Given the description of an element on the screen output the (x, y) to click on. 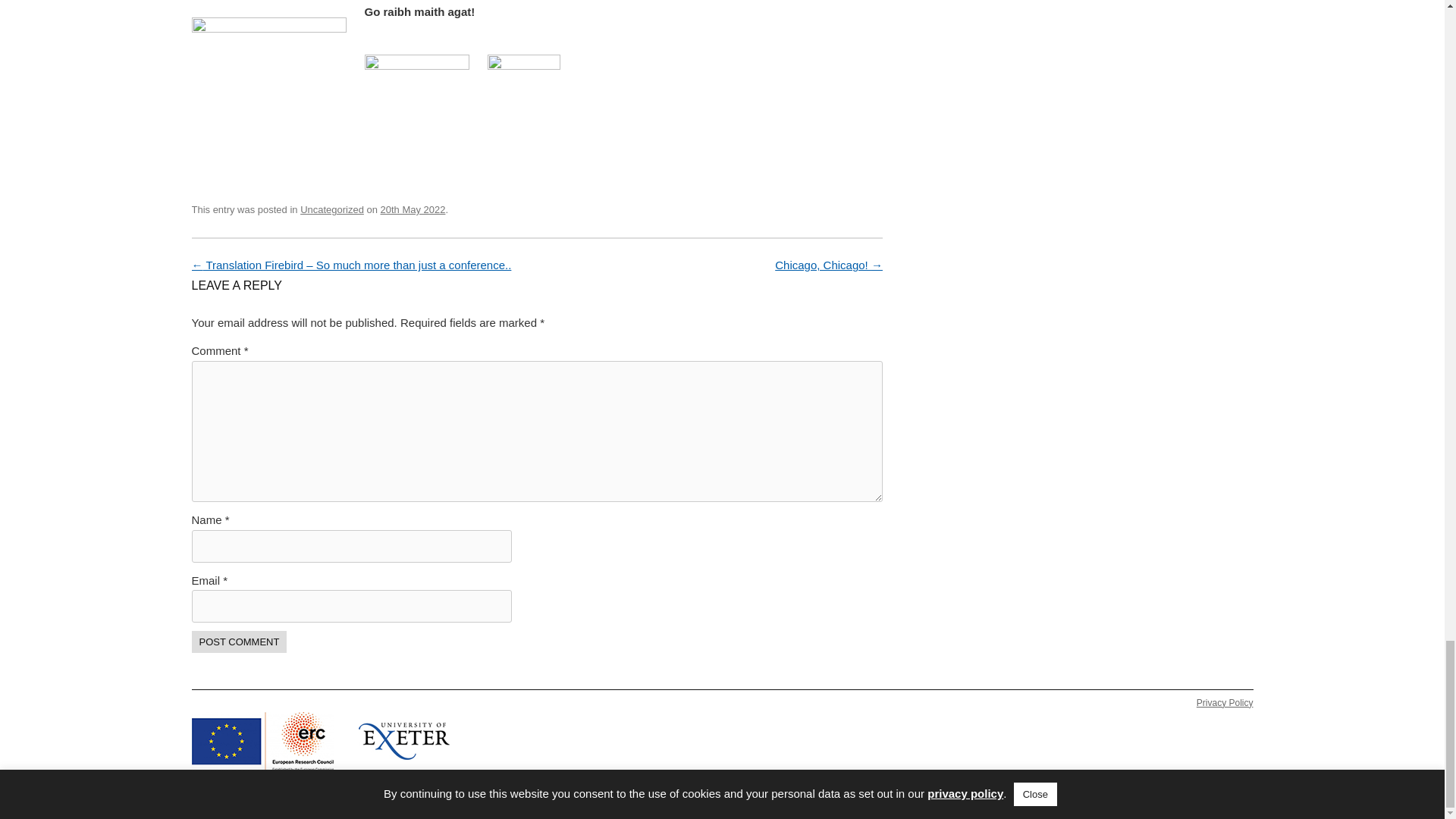
European Research Council (261, 741)
09:22 (412, 209)
Post Comment (238, 641)
University of Exeter (403, 741)
